Given the description of an element on the screen output the (x, y) to click on. 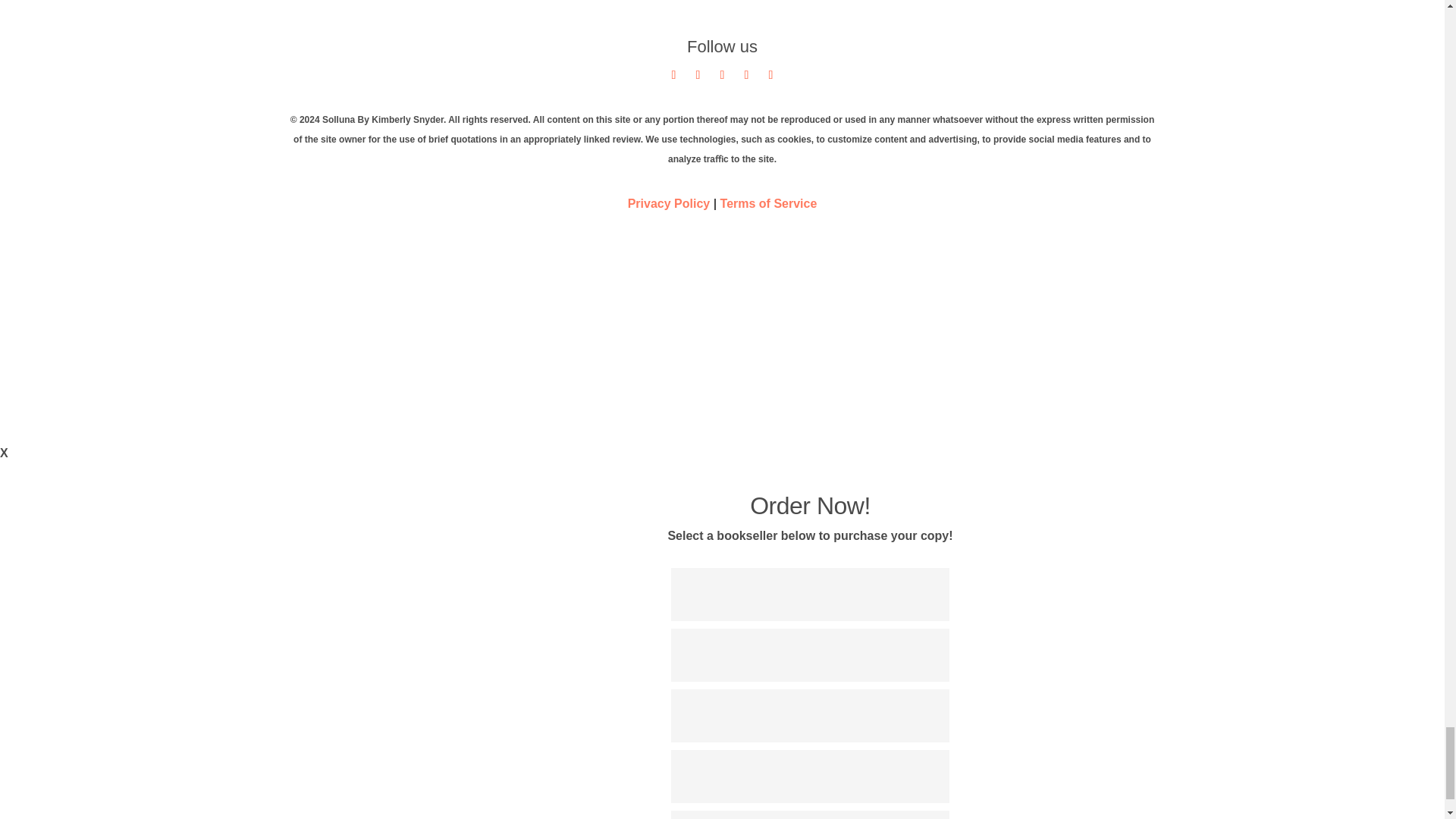
Follow on X (673, 74)
Follow on Facebook (697, 74)
New ICON (721, 313)
Follow on Pinterest (745, 74)
Follow on Instagram (770, 74)
Follow on Youtube (721, 74)
